Given the description of an element on the screen output the (x, y) to click on. 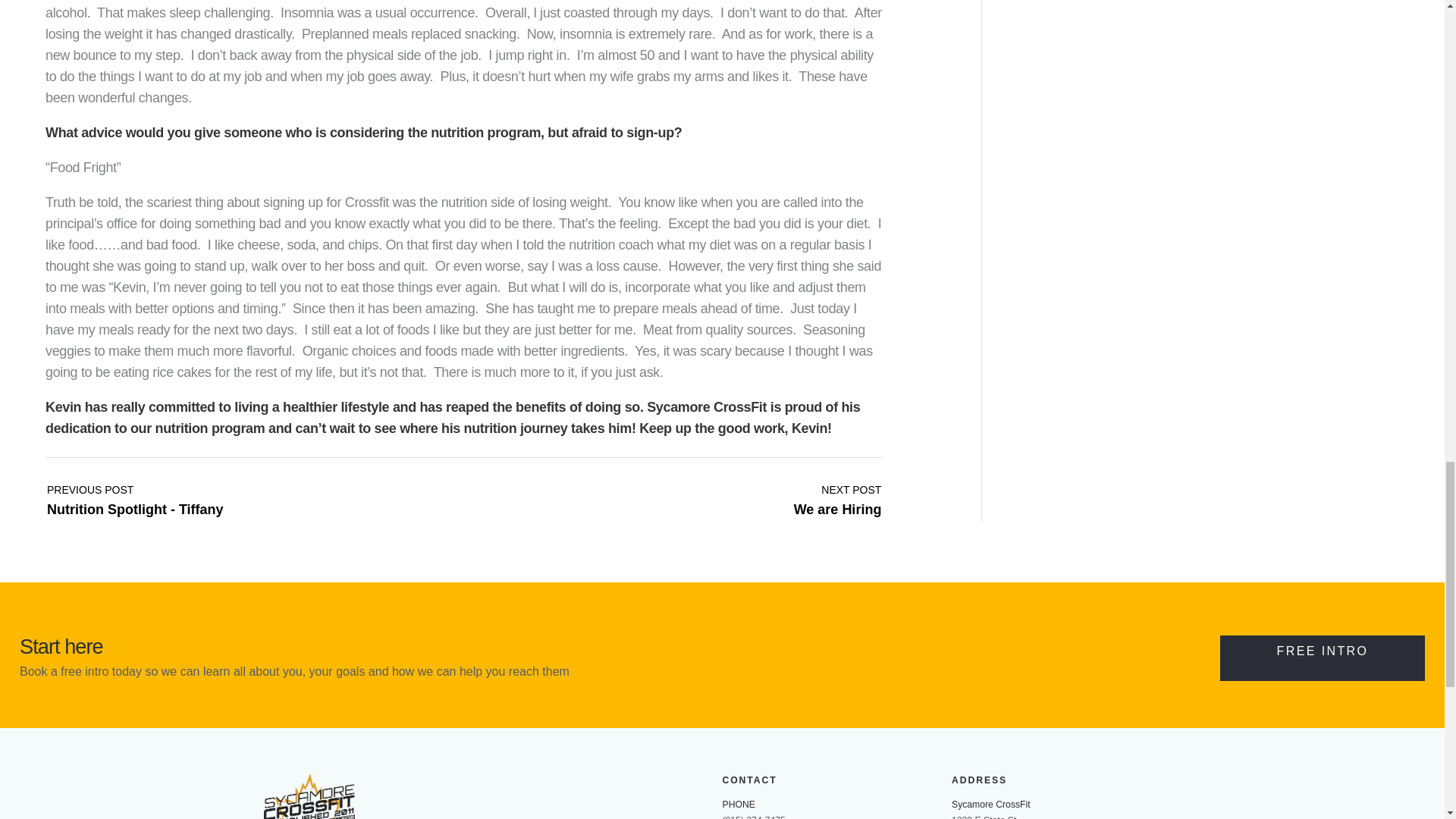
We are Hiring (837, 634)
FREE INTRO (837, 634)
Nutrition Spotlight - Tiffany (1322, 796)
